Given the description of an element on the screen output the (x, y) to click on. 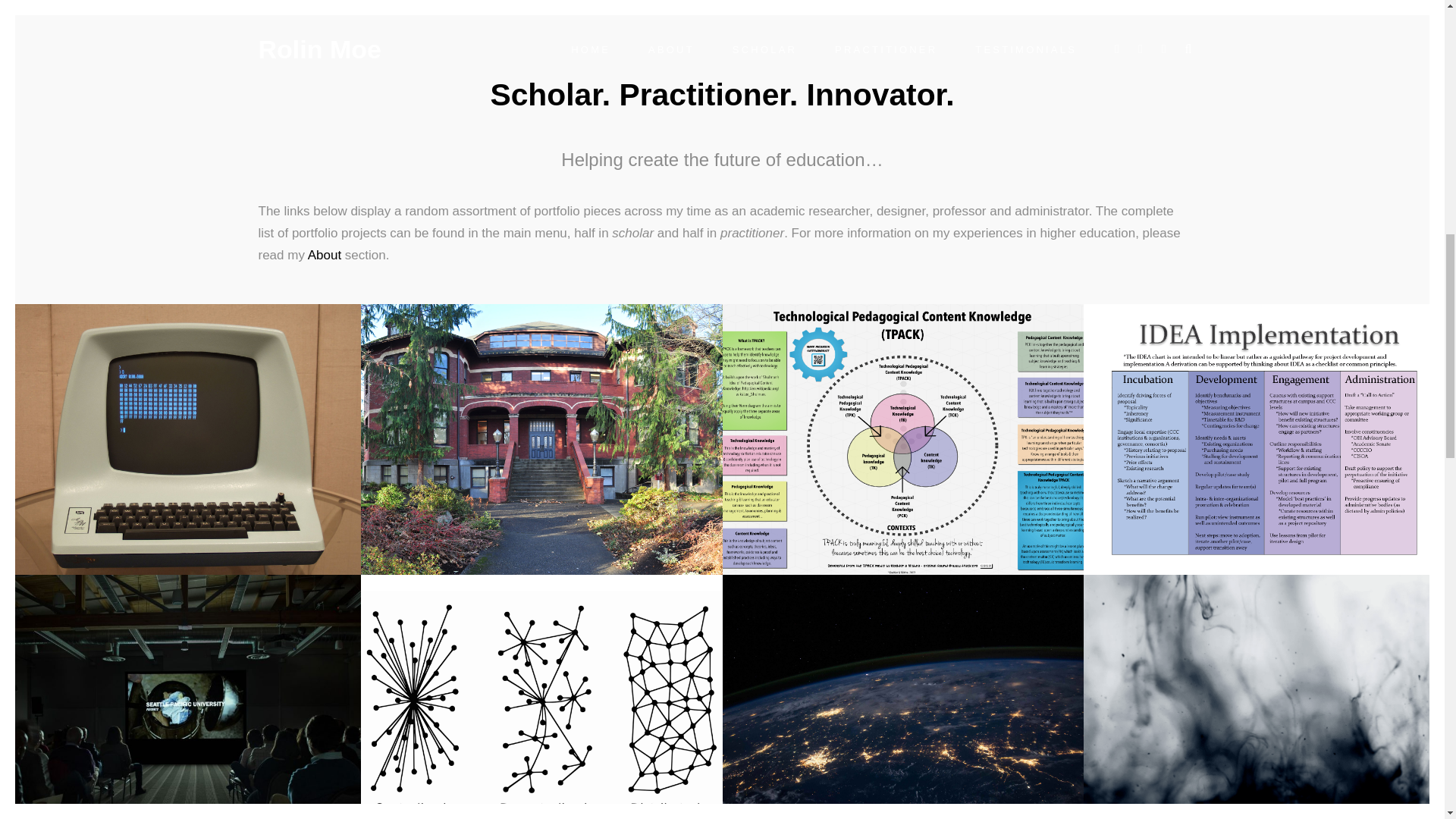
About (323, 255)
TPACK (902, 438)
Paraprofessional Education (541, 438)
Emergent Scholarship (902, 696)
Flexible Learning Environments (541, 696)
